Given the description of an element on the screen output the (x, y) to click on. 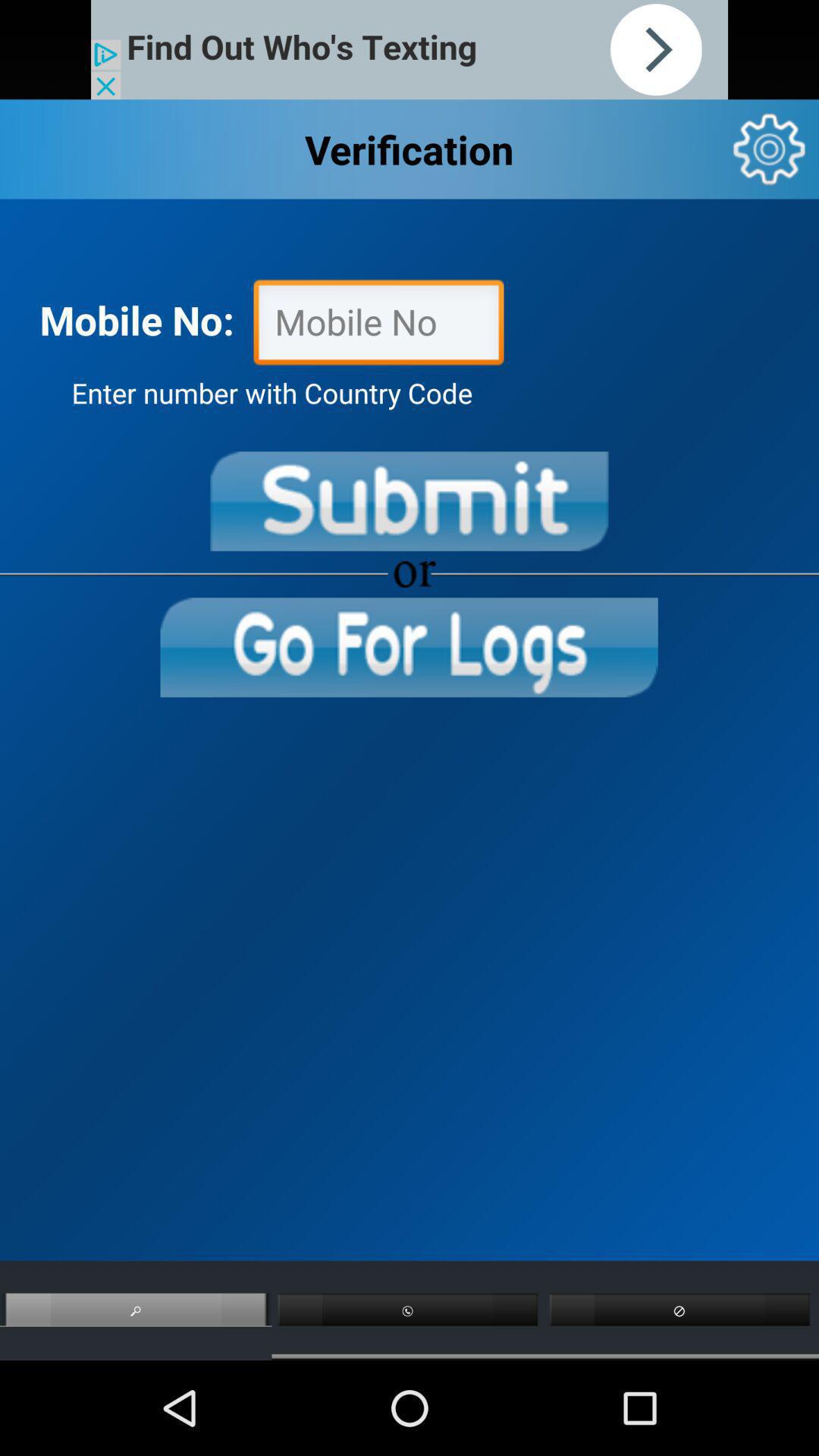
mobile number (378, 326)
